Given the description of an element on the screen output the (x, y) to click on. 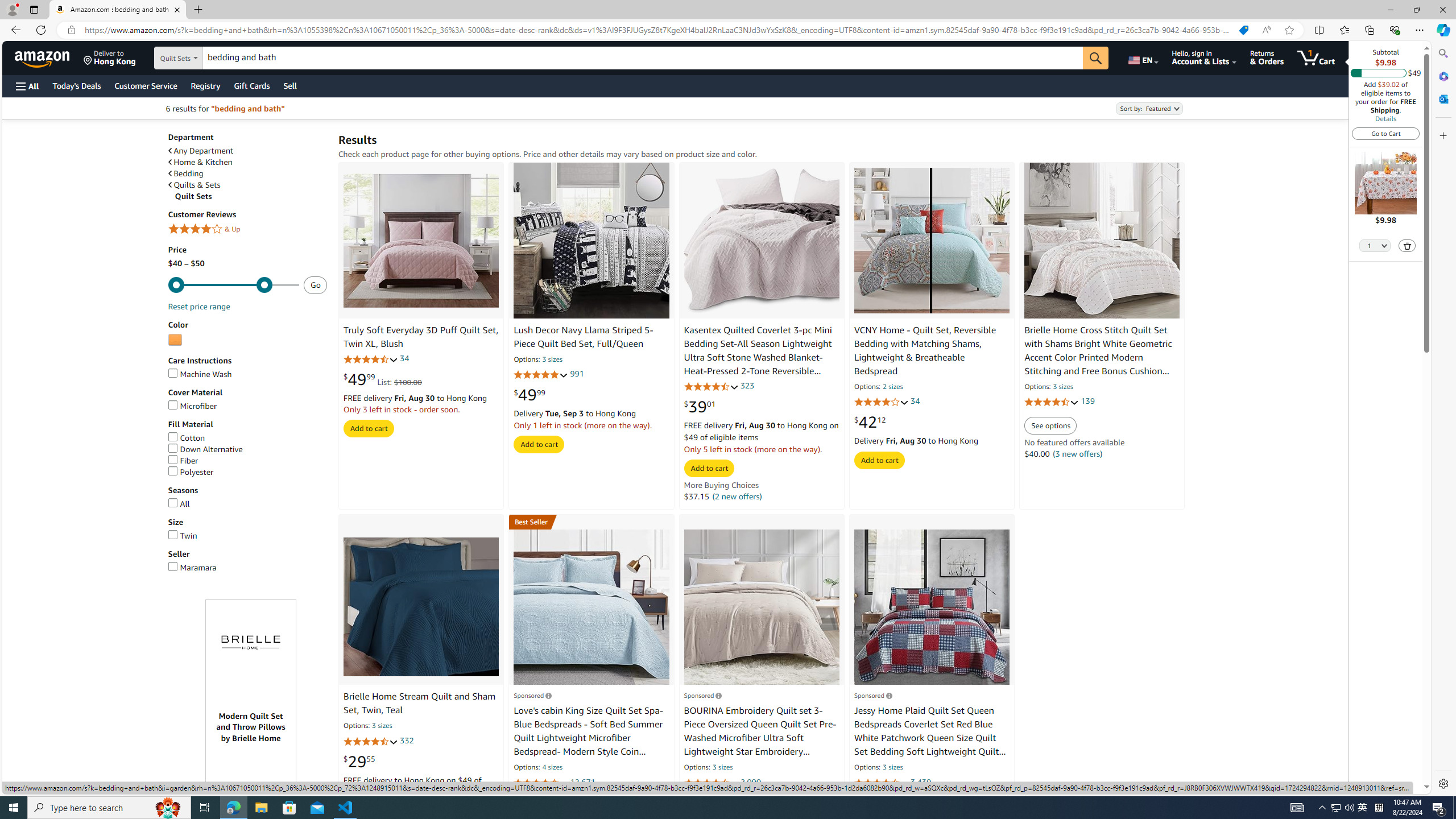
4.6 out of 5 stars (711, 782)
4 sizes (552, 767)
139 (1087, 401)
Microsoft 365 (1442, 76)
(3 new offers) (1077, 453)
Any Department (247, 150)
Open Menu (26, 86)
$42.12 (869, 421)
